Given the description of an element on the screen output the (x, y) to click on. 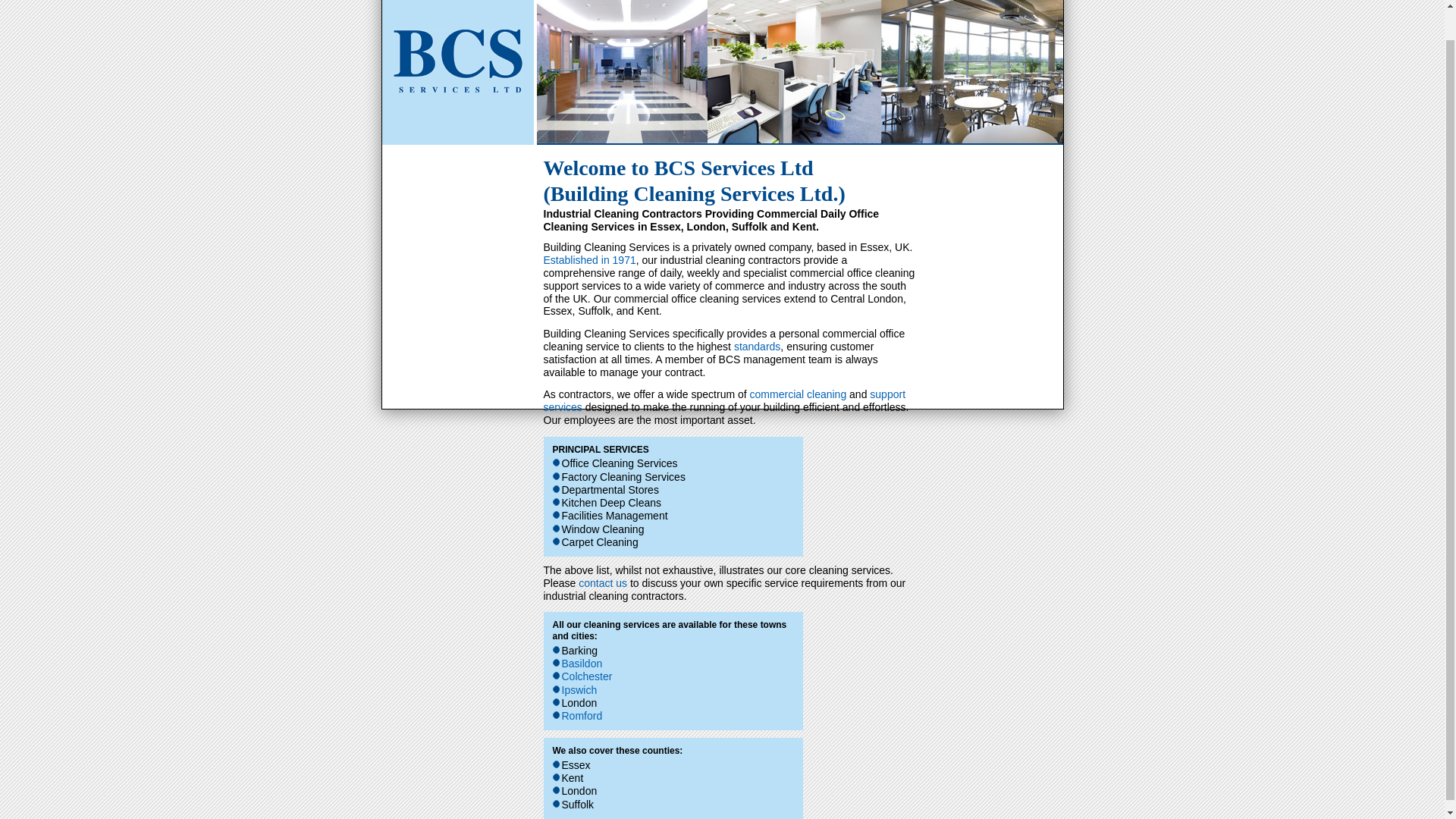
Ipswich (578, 689)
Romford (581, 715)
contact us (602, 582)
Colchester (585, 676)
BCS Home (457, 72)
Contact Building Cleaning Services Ltd (602, 582)
Established in 1971 (588, 259)
Basildon (581, 663)
About Building Cleaning Services Limited (588, 259)
